Given the description of an element on the screen output the (x, y) to click on. 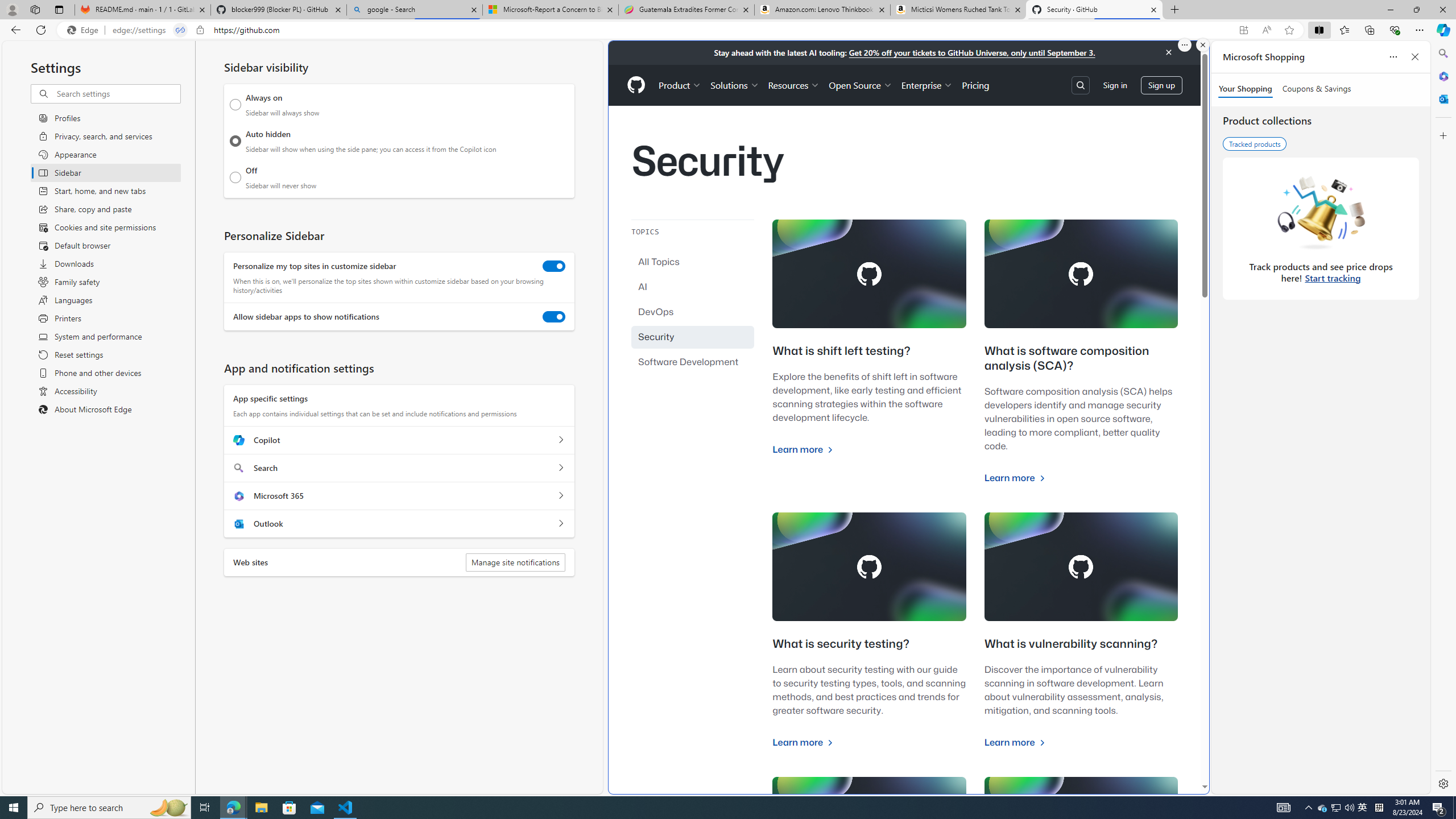
What is software composition analysis (SCA)? (1066, 358)
Close split screen. (1202, 45)
What is shift left testing? (840, 350)
Product (679, 84)
Personalize my top sites in customize sidebar (553, 265)
AI (692, 286)
Product (679, 84)
